Given the description of an element on the screen output the (x, y) to click on. 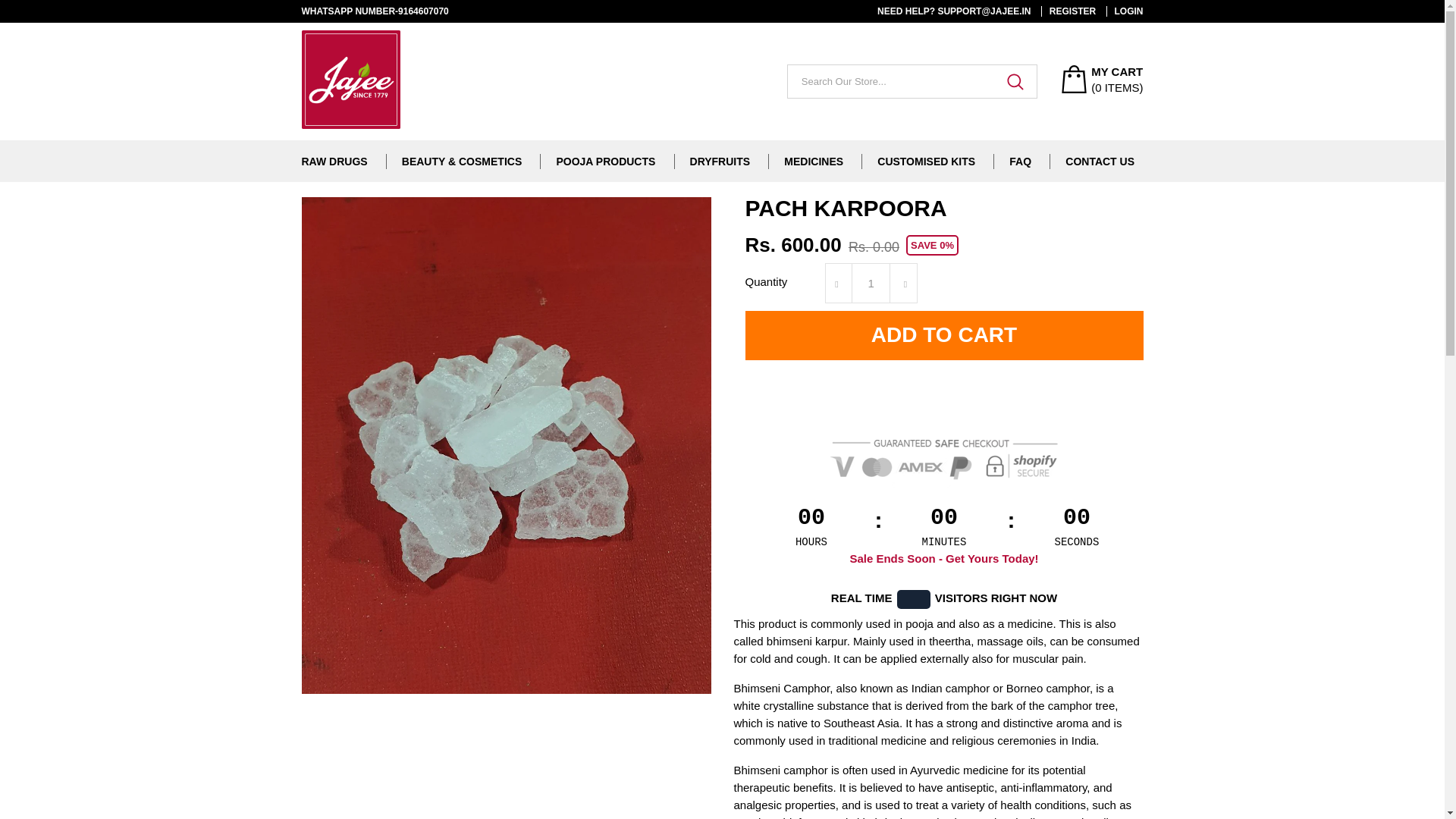
POOJA PRODUCTS (605, 160)
CONTACT US (1099, 160)
CUSTOMISED KITS (926, 160)
REGISTER (1068, 10)
RAW DRUGS (334, 160)
MEDICINES (813, 160)
ADD TO CART (943, 335)
DRYFRUITS (720, 160)
1 (870, 282)
FAQ (1019, 160)
